Given the description of an element on the screen output the (x, y) to click on. 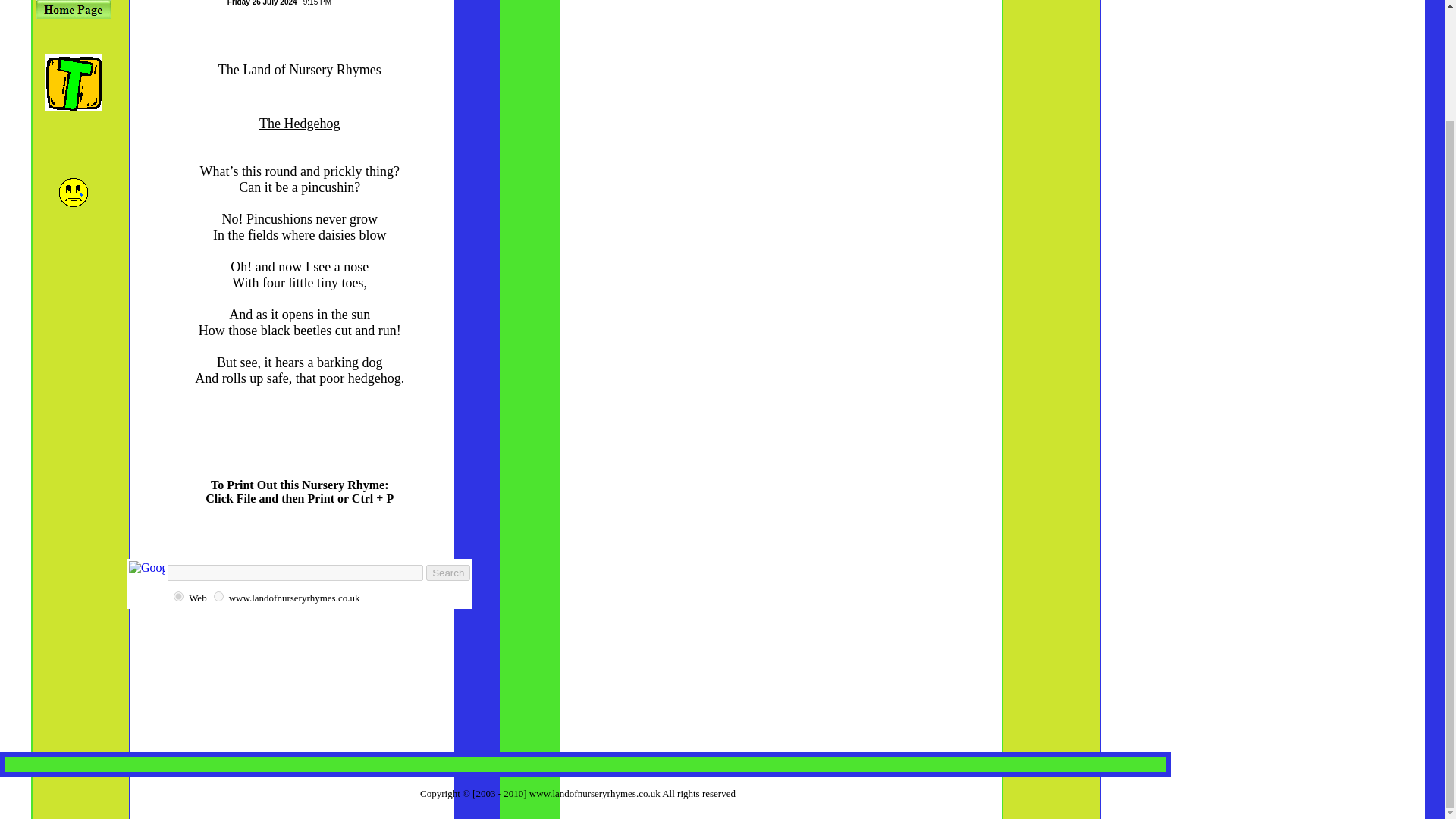
Search (448, 572)
Search (448, 572)
www.landofnurseryrhymes.co.uk (219, 596)
